Given the description of an element on the screen output the (x, y) to click on. 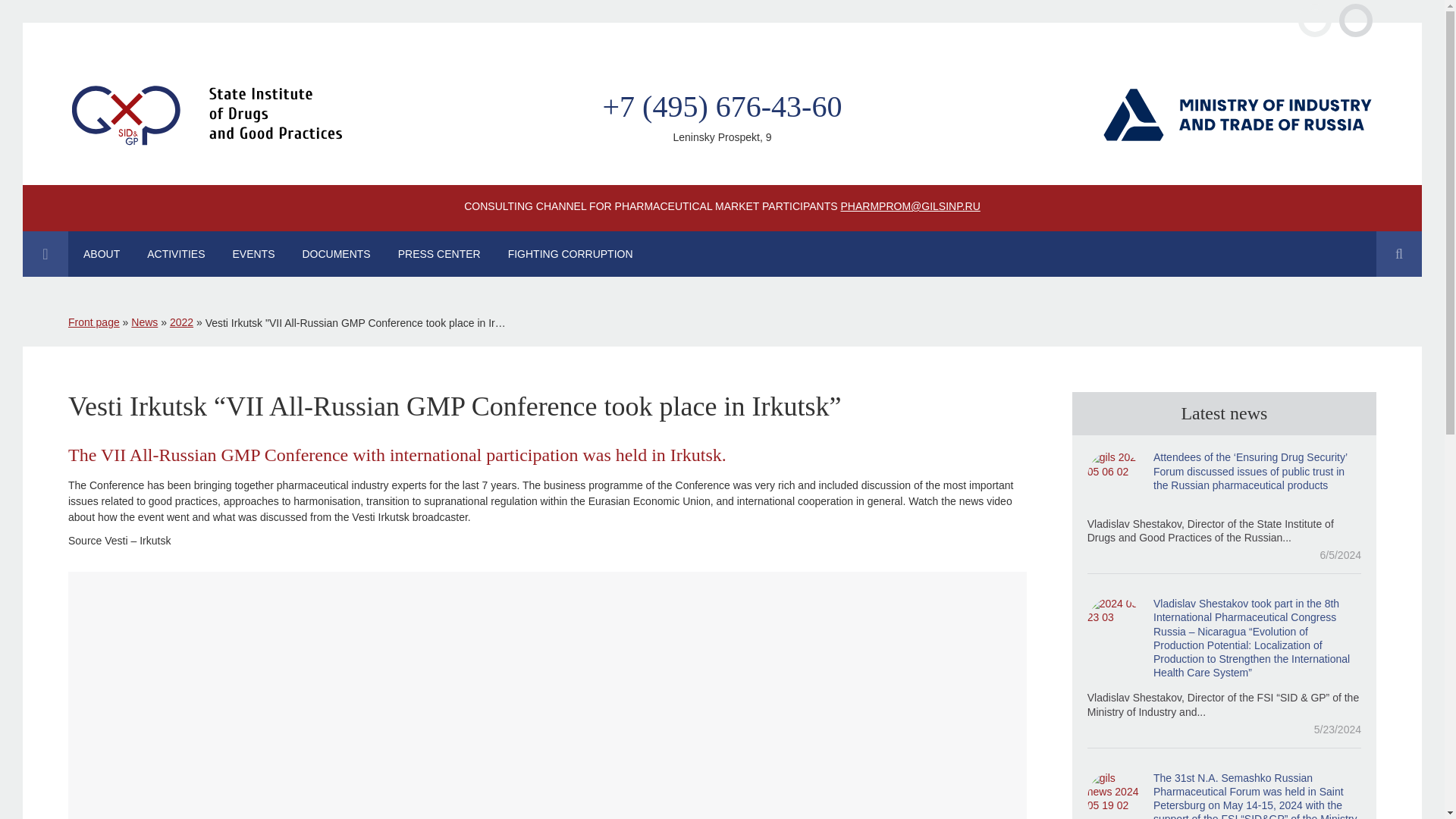
ACTIVITIES (175, 253)
ABOUT (101, 253)
PRESS CENTER (439, 253)
English (1356, 20)
DOCUMENTS (335, 253)
YouTube player (547, 696)
EVENTS (252, 253)
